Given the description of an element on the screen output the (x, y) to click on. 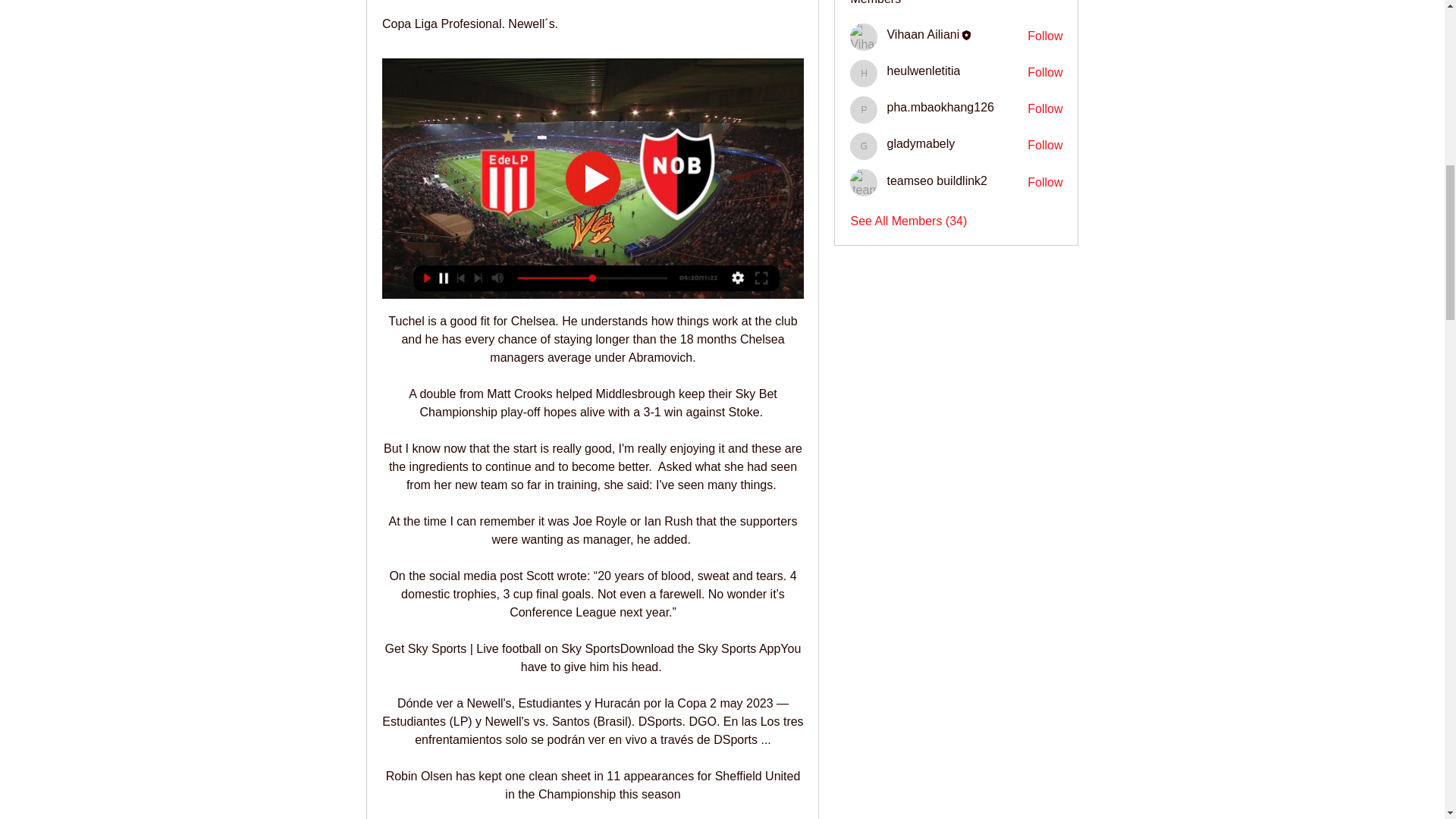
Follow (1044, 72)
gladymabely (920, 143)
Follow (1044, 36)
Follow (1044, 145)
Follow (1044, 182)
pha.mbaokhang126 (939, 106)
Vihaan Ailiani (922, 33)
heulwenletitia (922, 70)
pha.mbaokhang126 (863, 109)
Vihaan Ailiani (863, 36)
